Given the description of an element on the screen output the (x, y) to click on. 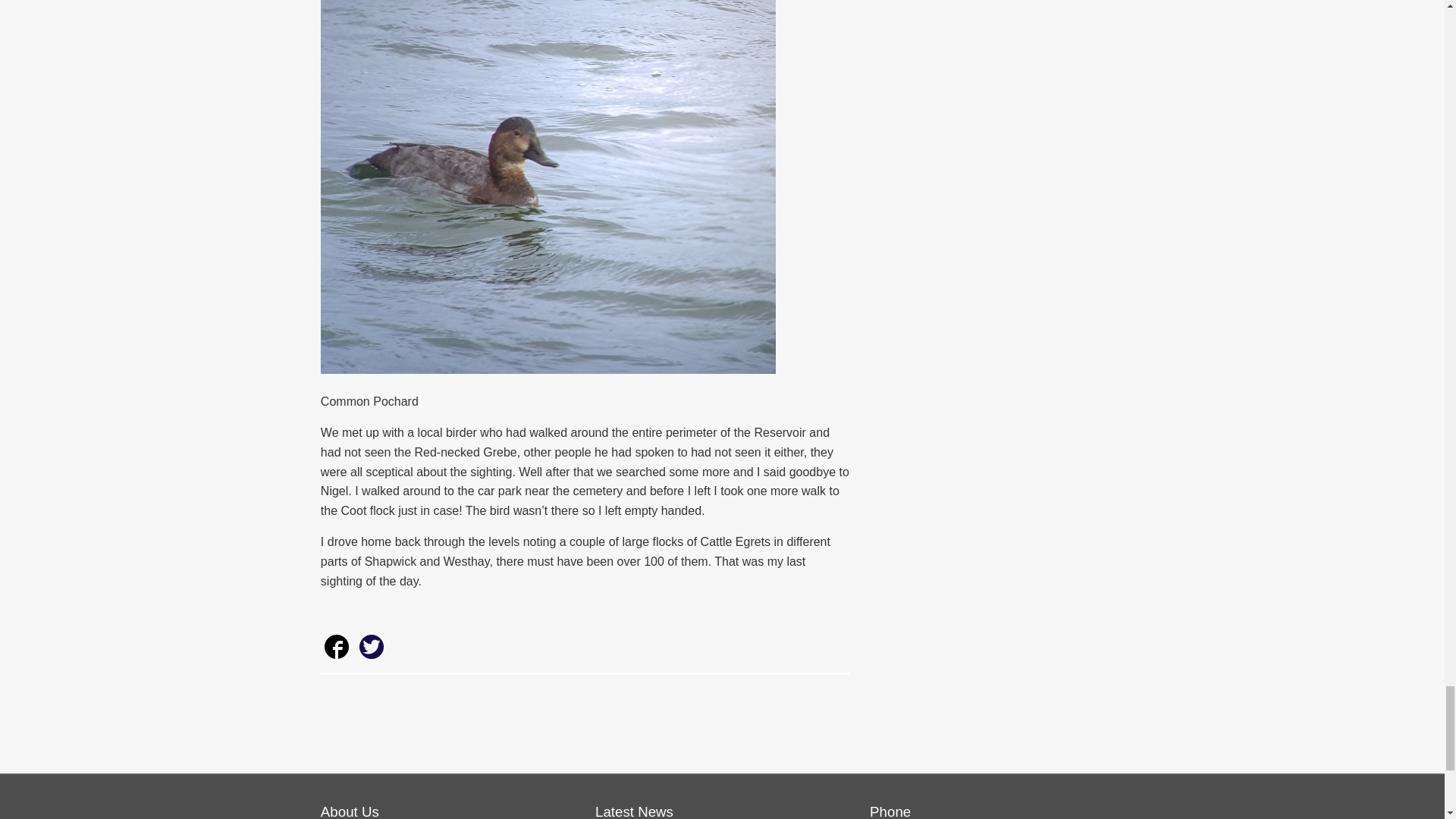
Latest News (633, 811)
About Us (349, 811)
